Given the description of an element on the screen output the (x, y) to click on. 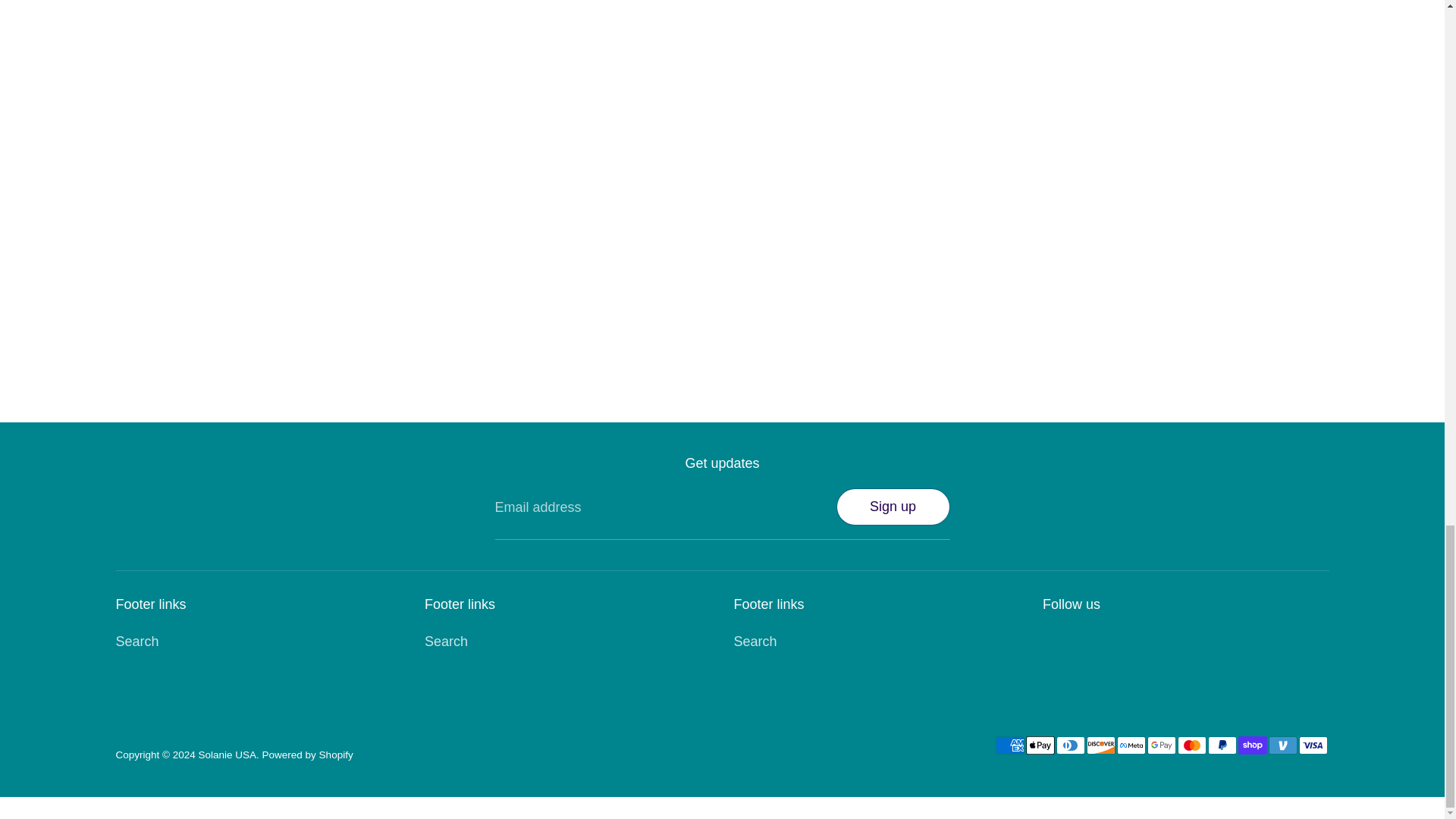
Google Pay (1160, 745)
Mastercard (1190, 745)
American Express (1008, 745)
PayPal (1221, 745)
Diners Club (1069, 745)
Meta Pay (1130, 745)
Apple Pay (1039, 745)
Discover (1100, 745)
